Given the description of an element on the screen output the (x, y) to click on. 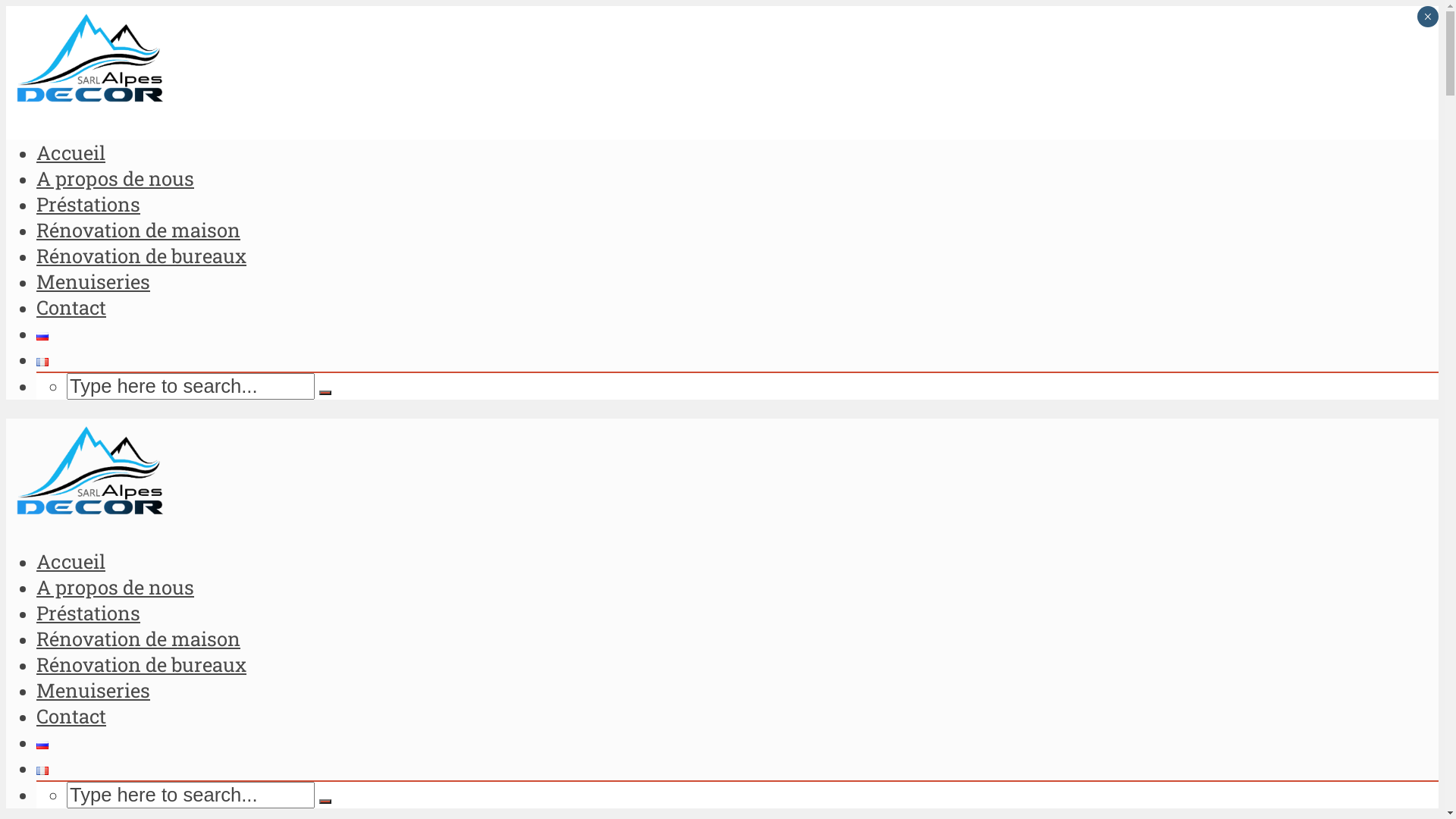
Menuiseries Element type: text (93, 281)
FR Element type: hover (42, 361)
Contact Element type: text (71, 715)
A propos de nous Element type: text (115, 586)
Contact Element type: text (71, 307)
RU Element type: hover (42, 744)
Menuiseries Element type: text (93, 689)
Accueil Element type: text (70, 152)
FR Element type: hover (42, 770)
Accueil Element type: text (70, 561)
A propos de nous Element type: text (115, 178)
RU Element type: hover (42, 336)
